Given the description of an element on the screen output the (x, y) to click on. 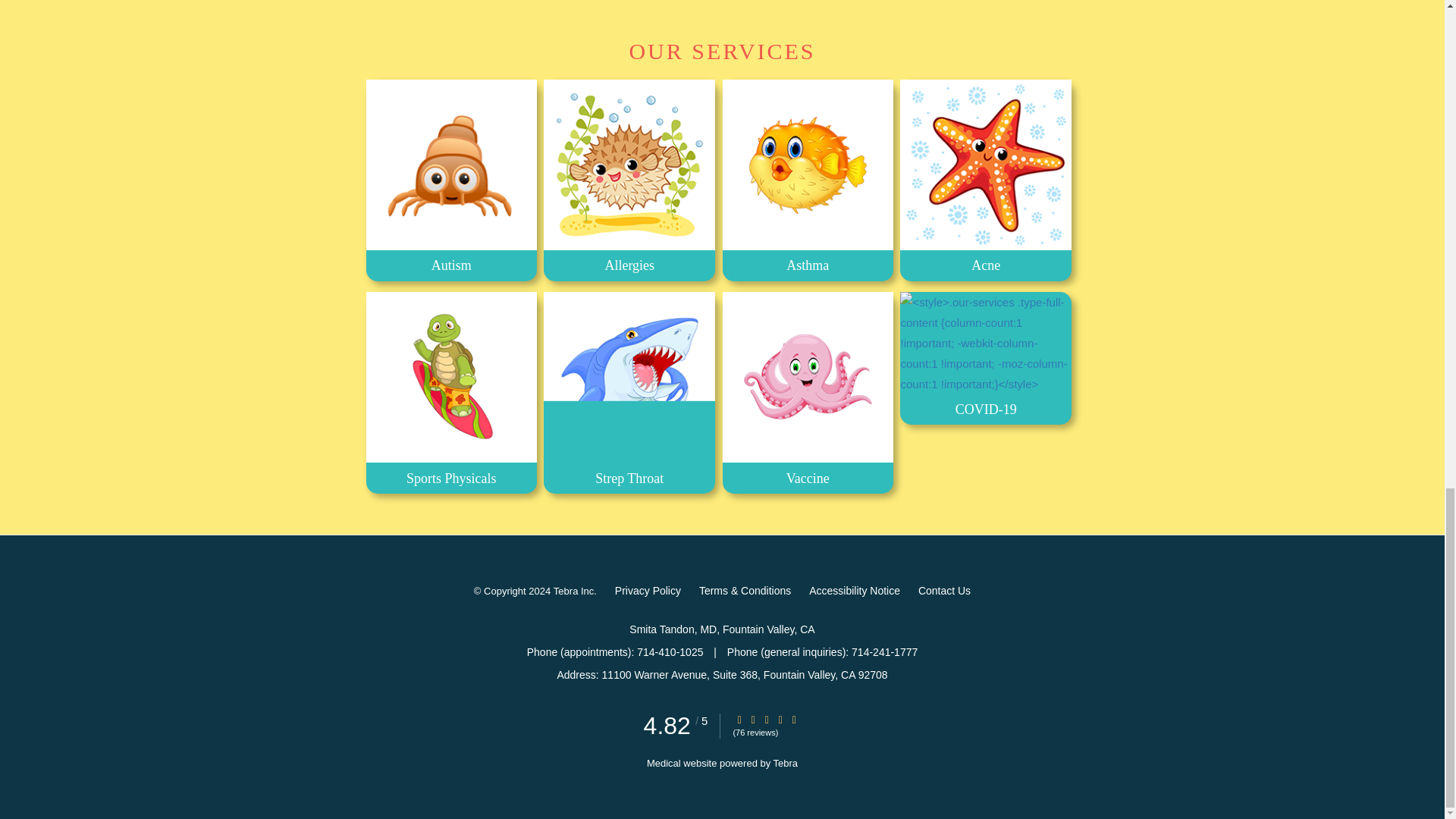
Star Rating (753, 719)
Star Rating (766, 719)
Star Rating (794, 719)
Star Rating (738, 719)
Star Rating (780, 719)
